Given the description of an element on the screen output the (x, y) to click on. 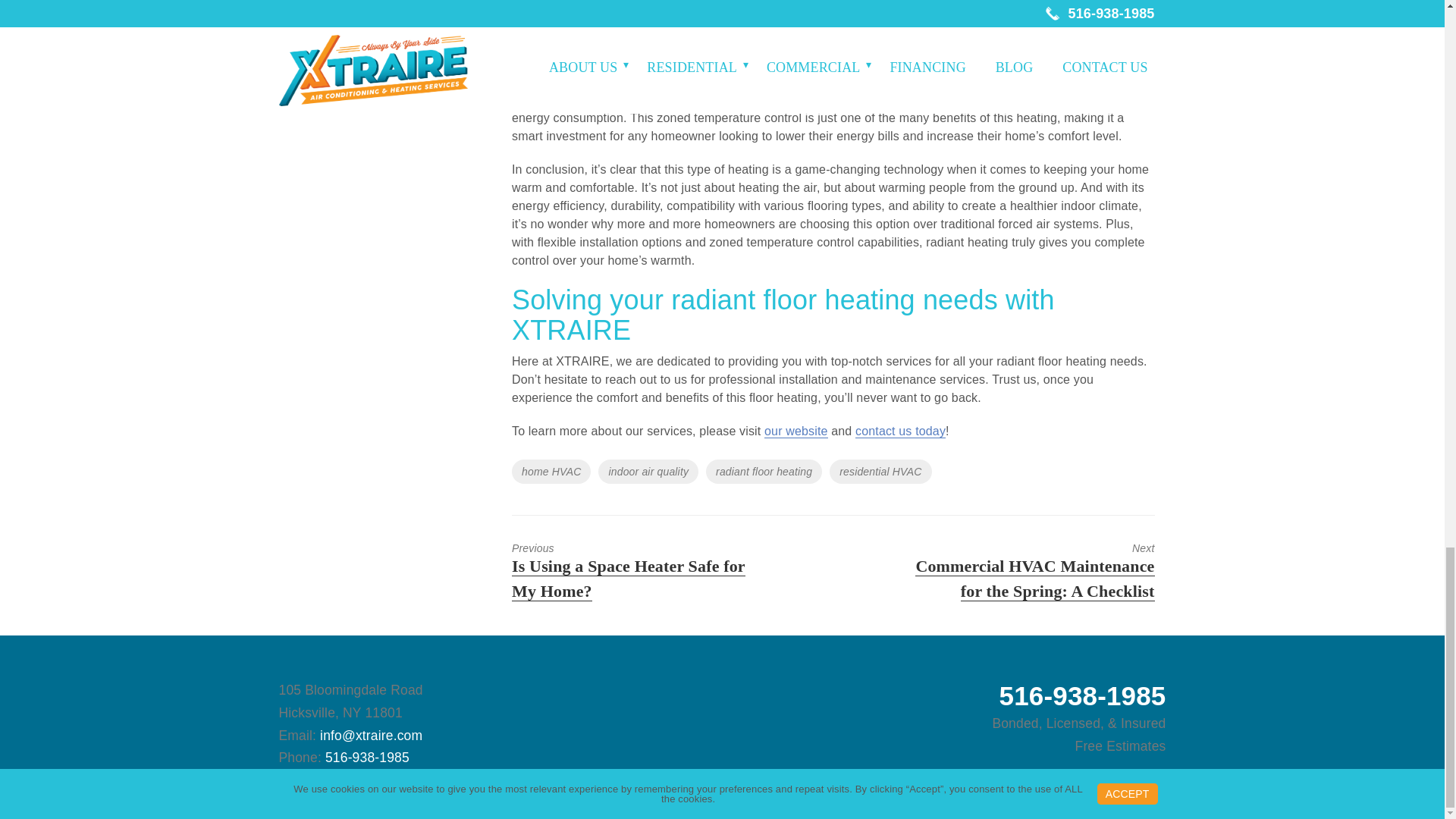
home HVAC (551, 471)
contact us today (900, 431)
residential HVAC (880, 471)
our website (796, 431)
radiant floor heating (764, 471)
indoor air quality (648, 471)
